Given the description of an element on the screen output the (x, y) to click on. 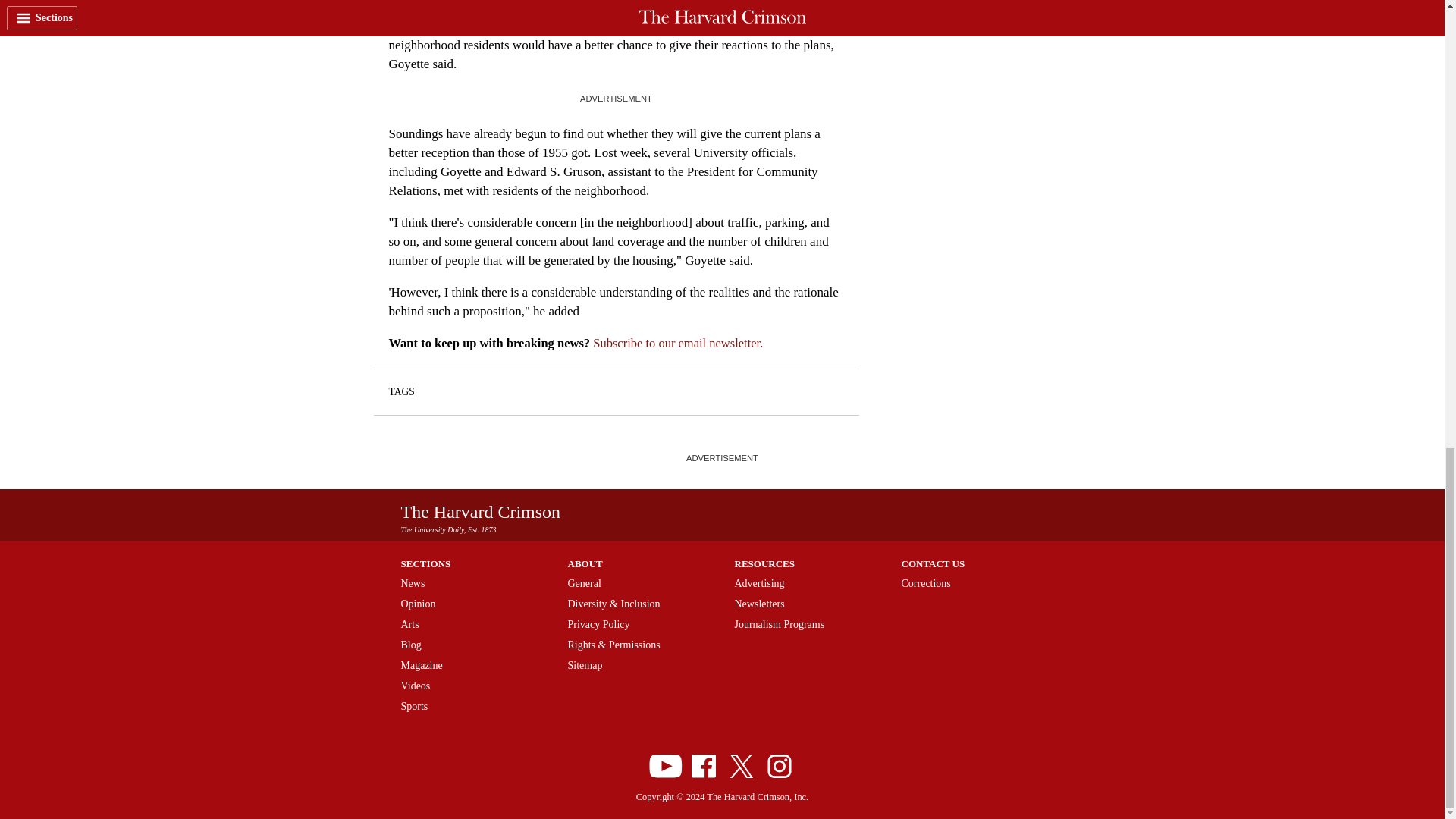
News (412, 583)
The Harvard Crimson (480, 511)
Subscribe to our email newsletter. (677, 342)
Opinion (417, 603)
